Given the description of an element on the screen output the (x, y) to click on. 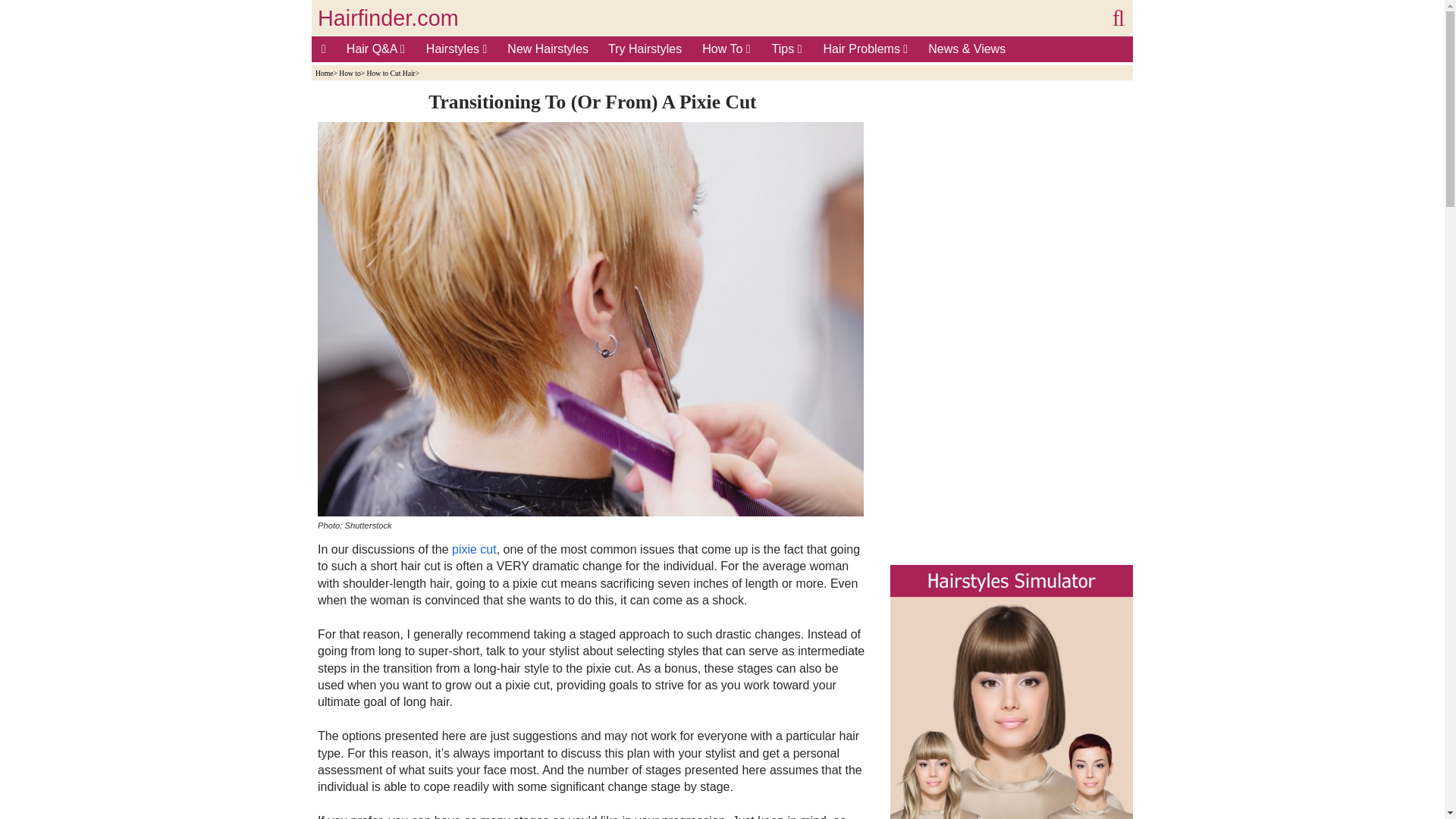
Hairstyles (455, 49)
Hairfinder.com (387, 18)
